Given the description of an element on the screen output the (x, y) to click on. 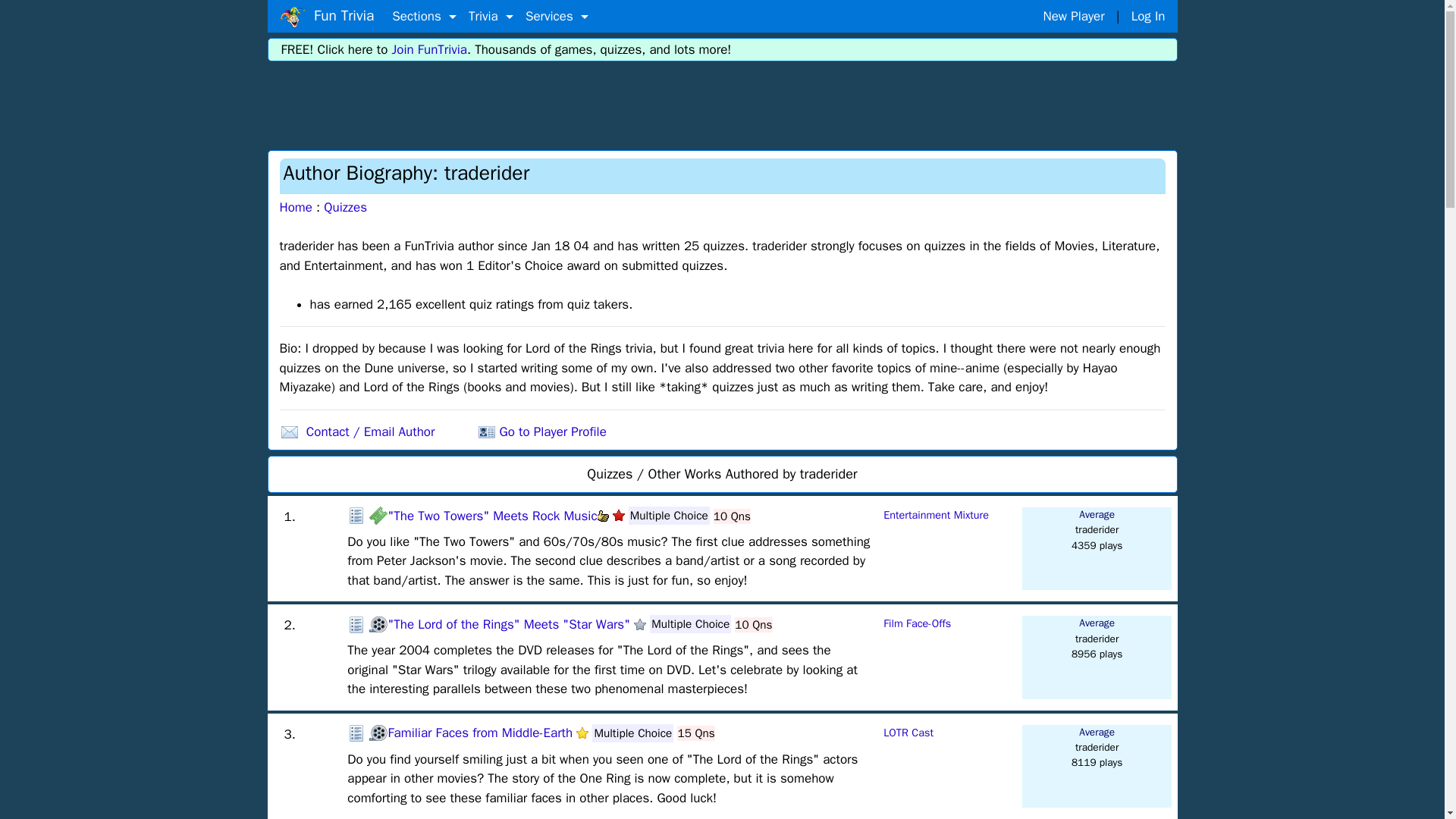
Services (556, 16)
Advertisement (722, 102)
Sections (424, 16)
  Fun Trivia (326, 15)
Trivia (491, 16)
Home (291, 16)
